Given the description of an element on the screen output the (x, y) to click on. 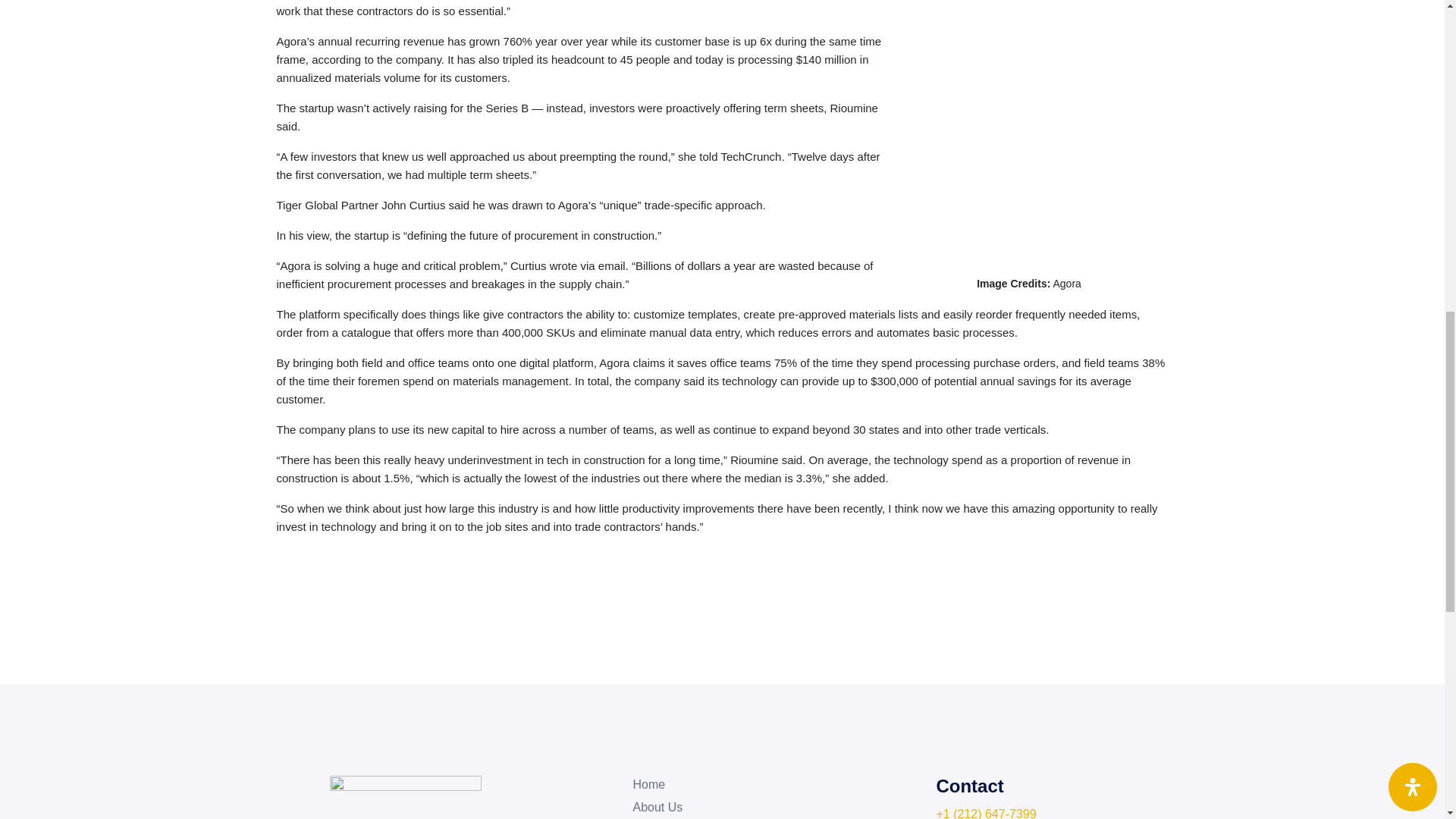
About Us (656, 807)
Home (648, 784)
